Given the description of an element on the screen output the (x, y) to click on. 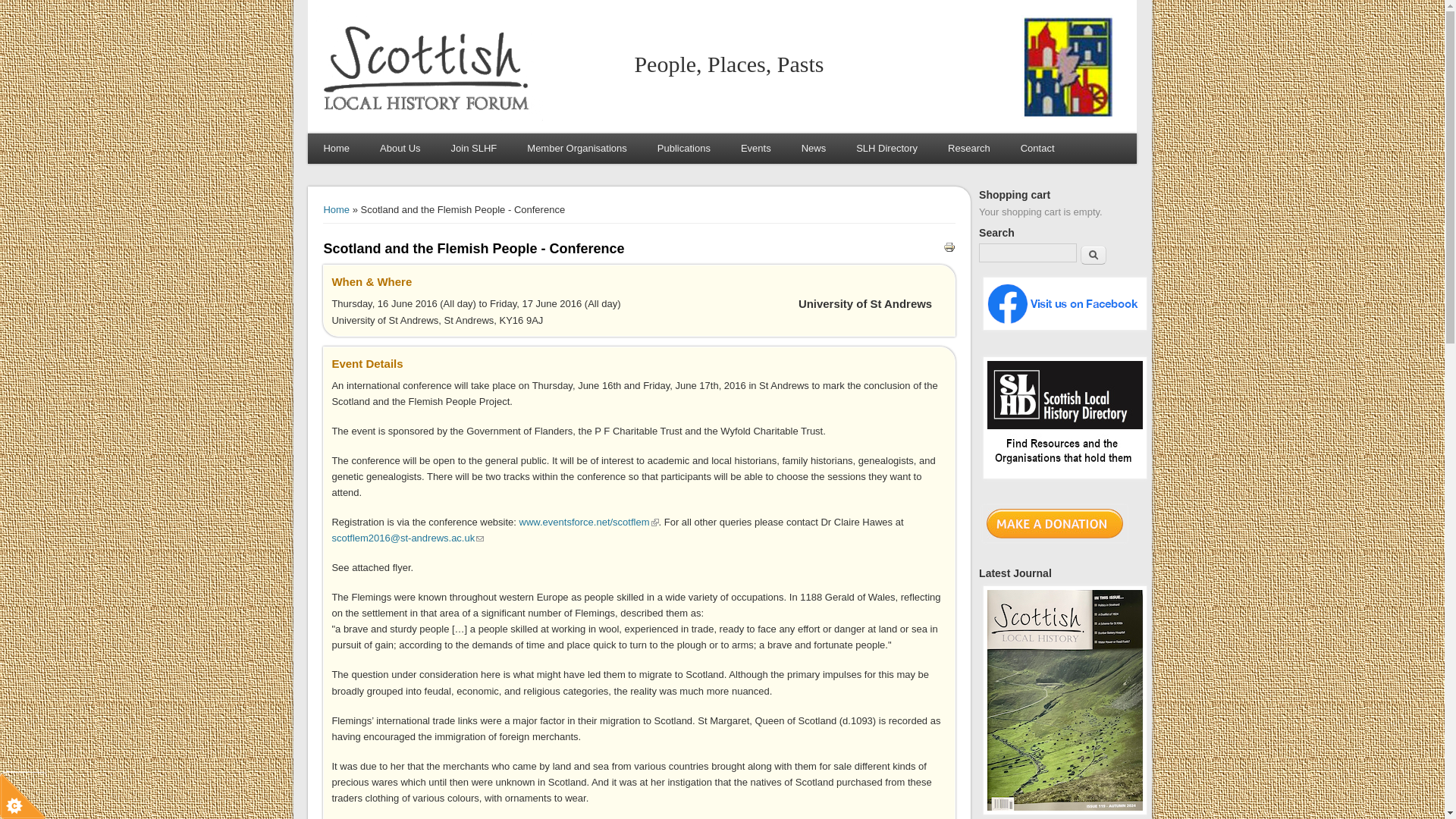
Events (755, 148)
Join SLHF (473, 148)
About the Scottish Local History Forum (400, 148)
Member Organisations (577, 148)
About Us (400, 148)
Home (336, 148)
Become a member of Scottish Local History Forum (473, 148)
Search (1093, 254)
Publications (683, 148)
Home (429, 117)
